Given the description of an element on the screen output the (x, y) to click on. 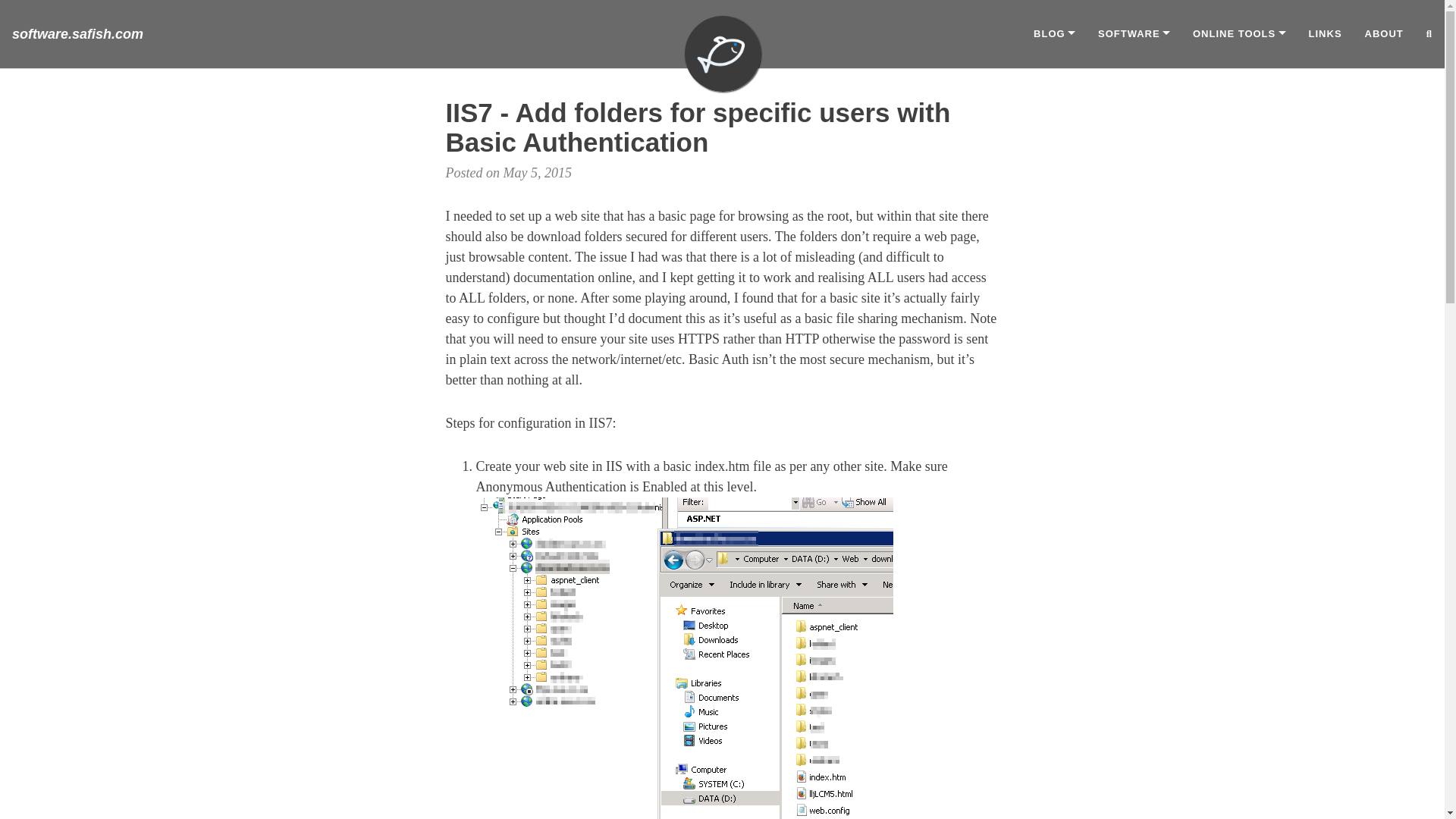
ABOUT (1384, 34)
LINKS (1325, 34)
software.safish.com (76, 34)
BLOG (1054, 34)
ONLINE TOOLS (1238, 34)
SOFTWARE (1133, 34)
